Given the description of an element on the screen output the (x, y) to click on. 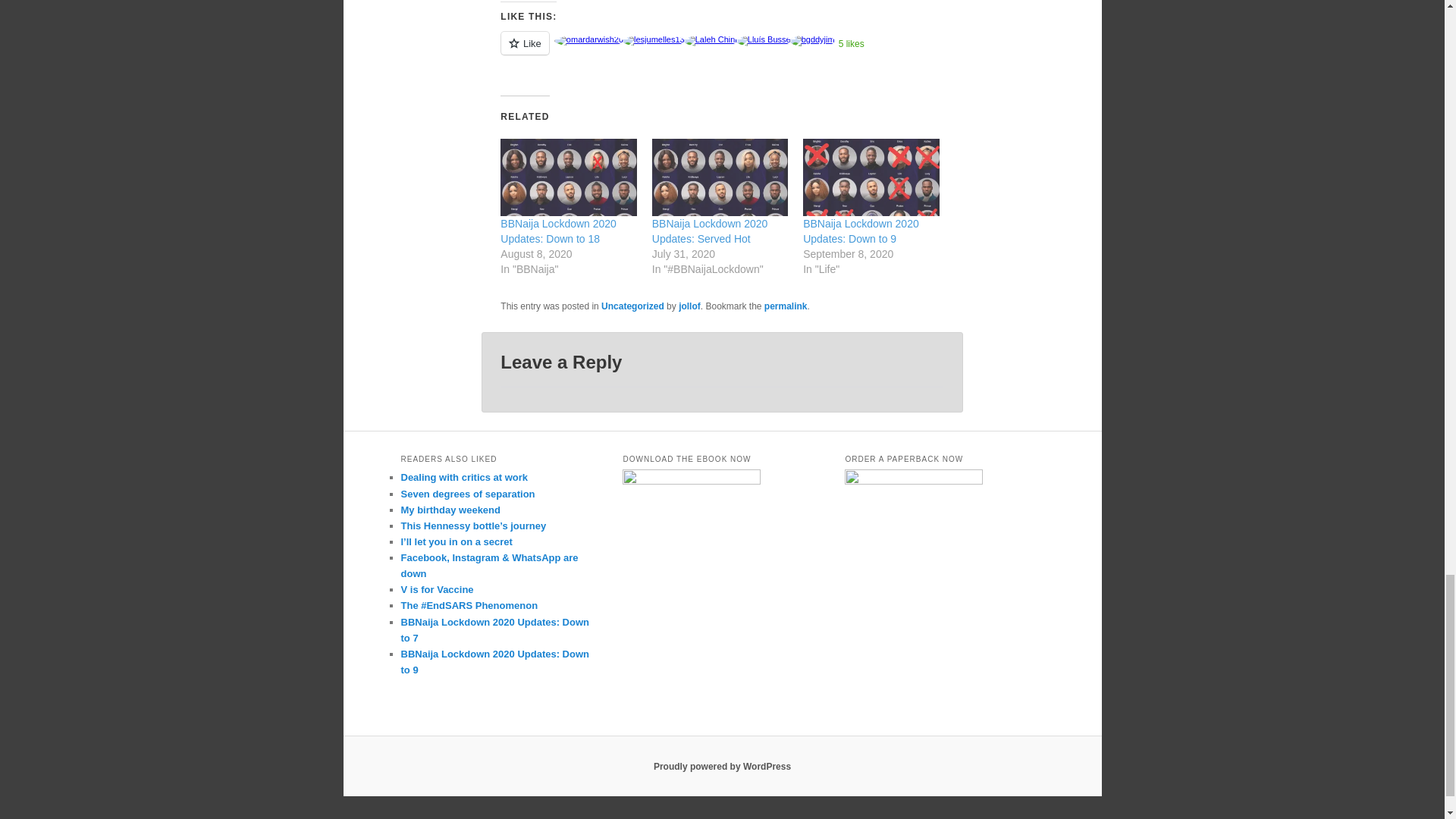
jollof (689, 306)
My birthday weekend (449, 509)
BBNaija Lockdown 2020 Updates: Down to 18 (568, 177)
Dealing with critics at work (463, 477)
BBNaija Lockdown 2020 Updates: Served Hot (710, 230)
Uncategorized (632, 306)
Like or Reblog (721, 51)
permalink (786, 306)
BBNaija Lockdown 2020 Updates: Down to 9 (860, 230)
BBNaija Lockdown 2020 Updates: Down to 18 (557, 230)
Seven degrees of separation (467, 493)
